Given the description of an element on the screen output the (x, y) to click on. 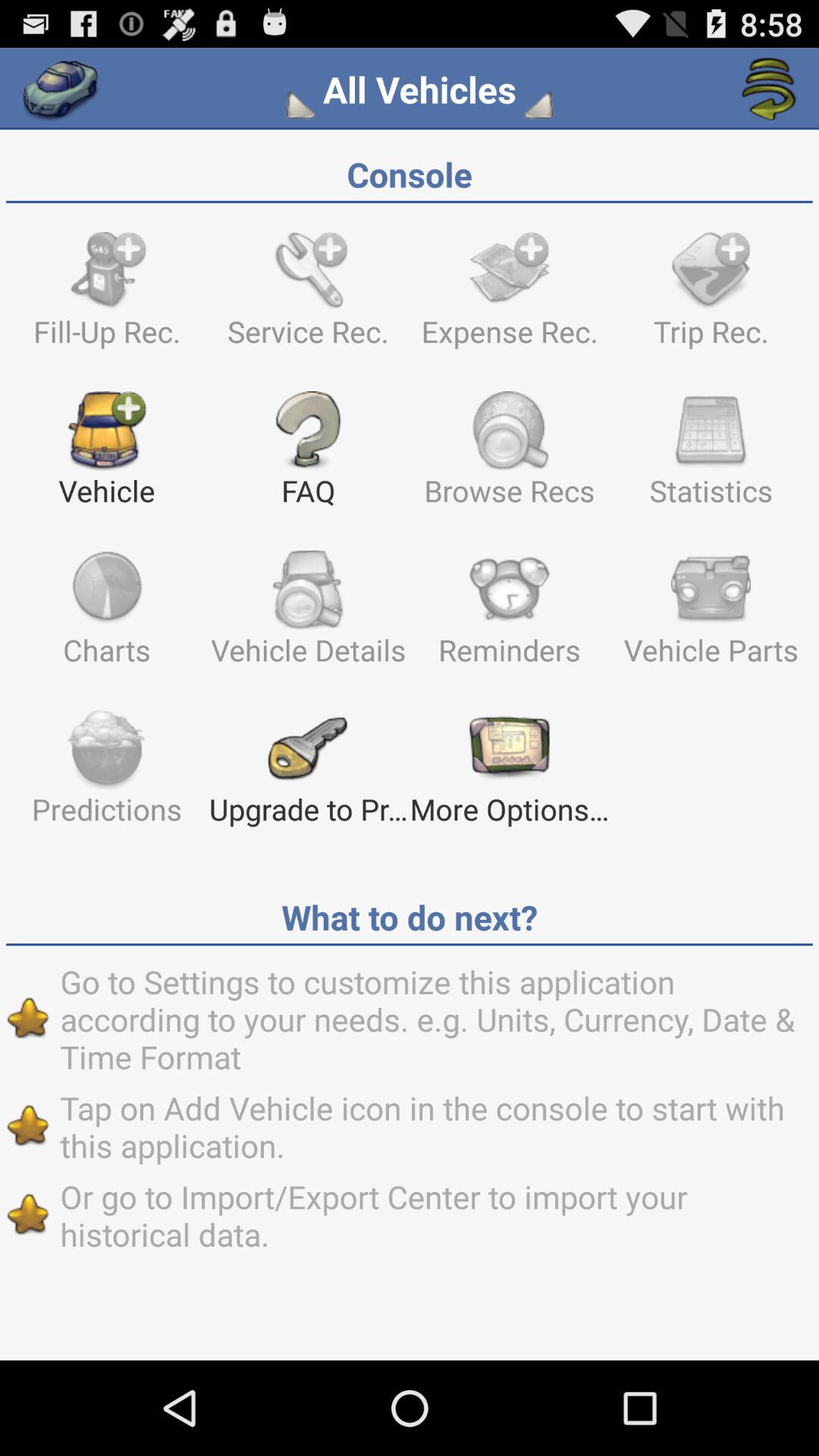
flip until fill-up rec. app (106, 296)
